Given the description of an element on the screen output the (x, y) to click on. 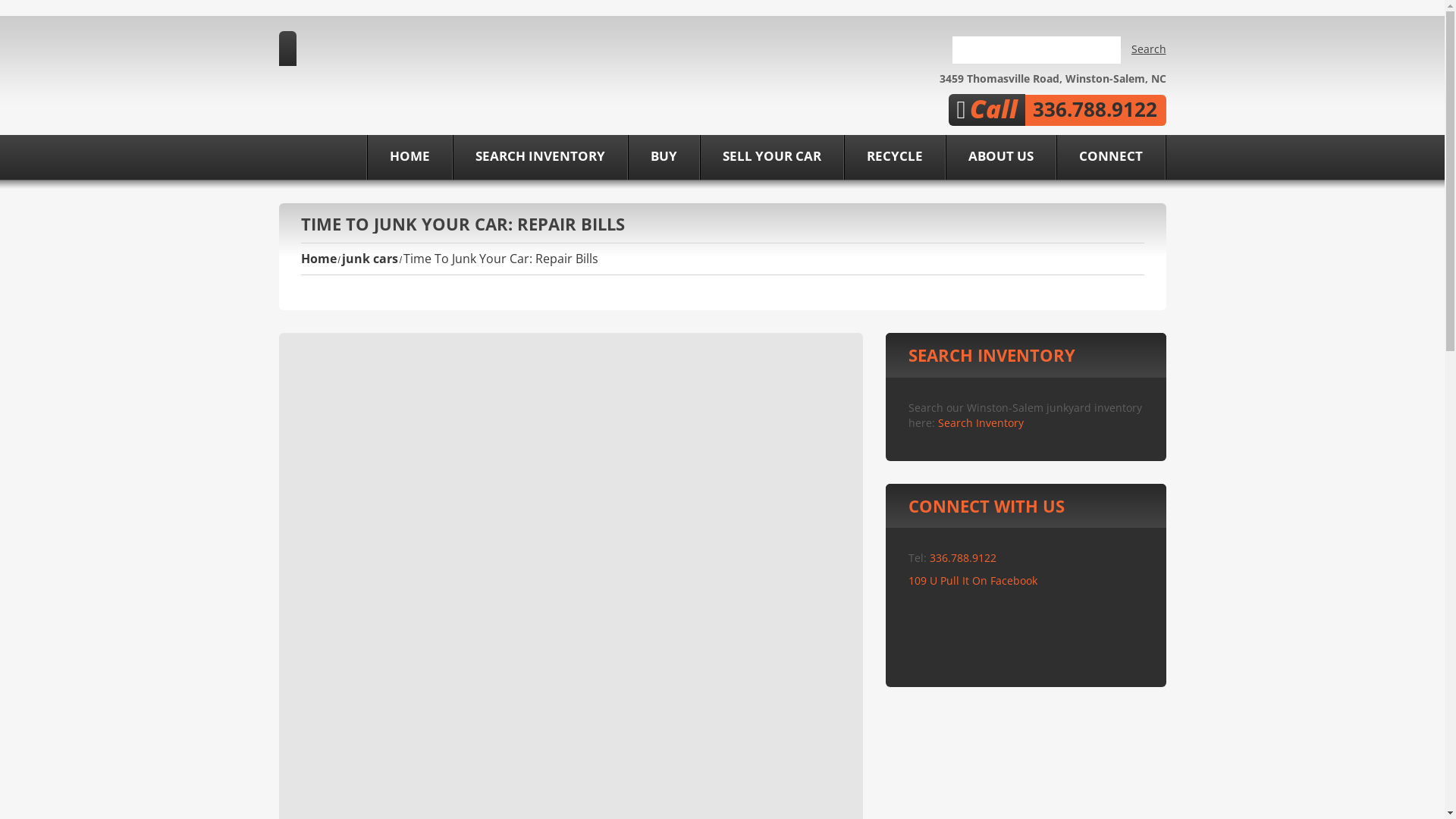
Home Element type: text (317, 258)
SEARCH INVENTORY Element type: text (539, 156)
HOME Element type: text (409, 156)
336.788.9122 Element type: text (961, 557)
Like us on Facebook Element type: hover (887, 108)
BUY Element type: text (663, 156)
109 U Pull It On Facebook Element type: text (972, 580)
CONNECT Element type: text (1109, 156)
Watch us on Youtube Element type: hover (921, 108)
ABOUT US Element type: text (999, 156)
RECYCLE Element type: text (893, 156)
Search Element type: text (1148, 49)
Search Inventory Element type: text (979, 422)
SELL YOUR CAR Element type: text (771, 156)
junk cars Element type: text (370, 258)
